Given the description of an element on the screen output the (x, y) to click on. 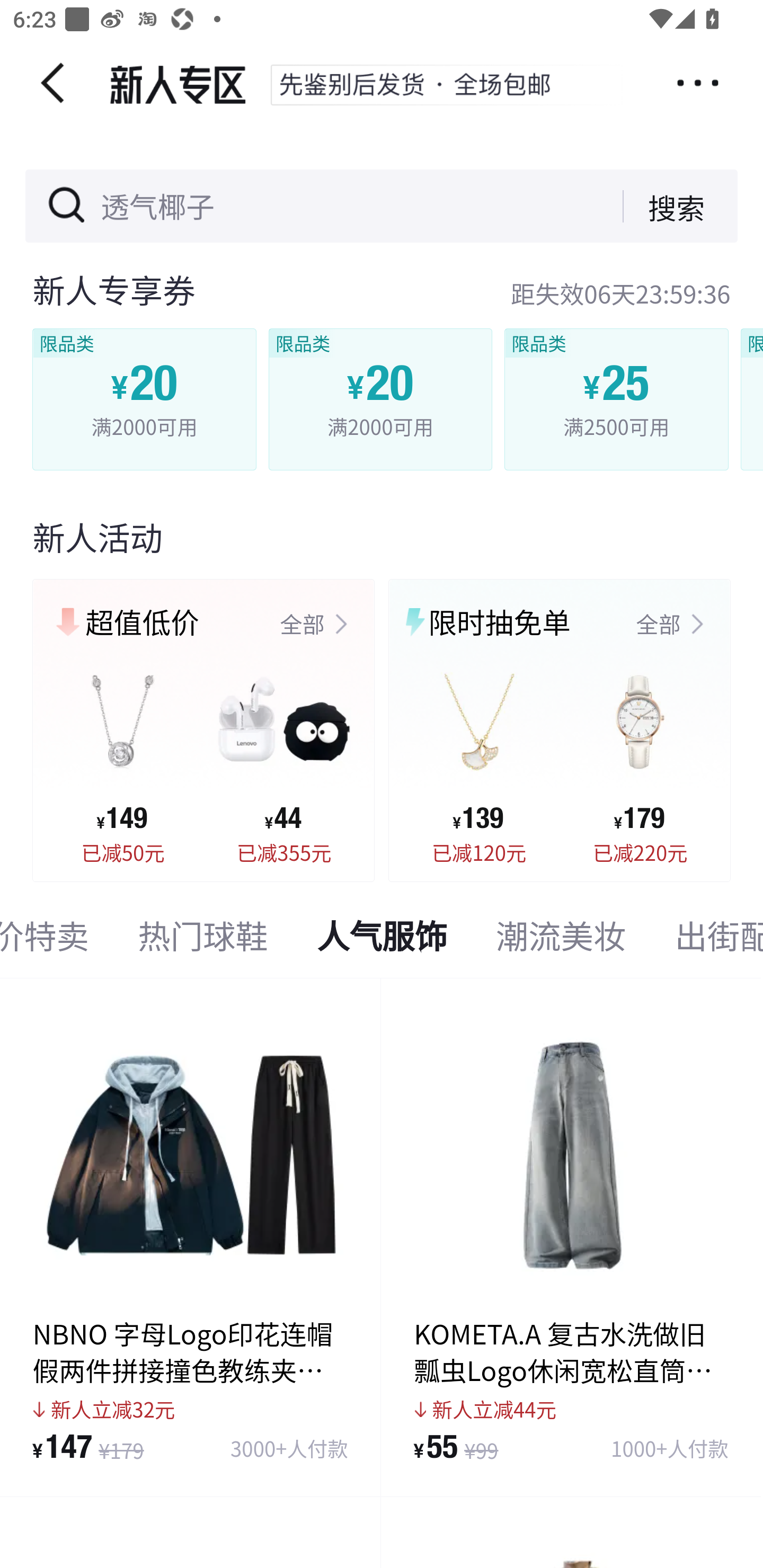
mlb 透气椰子 (206, 206)
搜索 (663, 205)
¥ 20 满2000可用 限品类 (144, 399)
¥ 20 满2000可用 限品类 (379, 399)
¥ 25 满2500可用 限品类 (616, 399)
resize,w_200 ¥149 已减50元 (122, 756)
resize,w_200 ¥44 已减355元 (283, 756)
resize,w_200 ¥139 已减120元 (479, 756)
resize,w_200 ¥179 已减220元 (639, 756)
热门球鞋 (202, 939)
人气服饰 (382, 939)
潮流美妆 (560, 939)
